Given the description of an element on the screen output the (x, y) to click on. 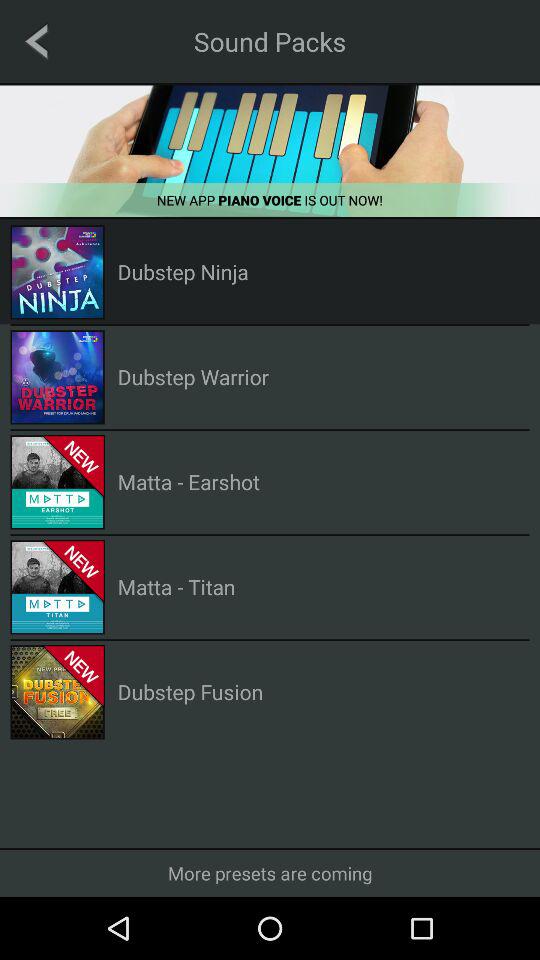
back arrow (36, 41)
